Given the description of an element on the screen output the (x, y) to click on. 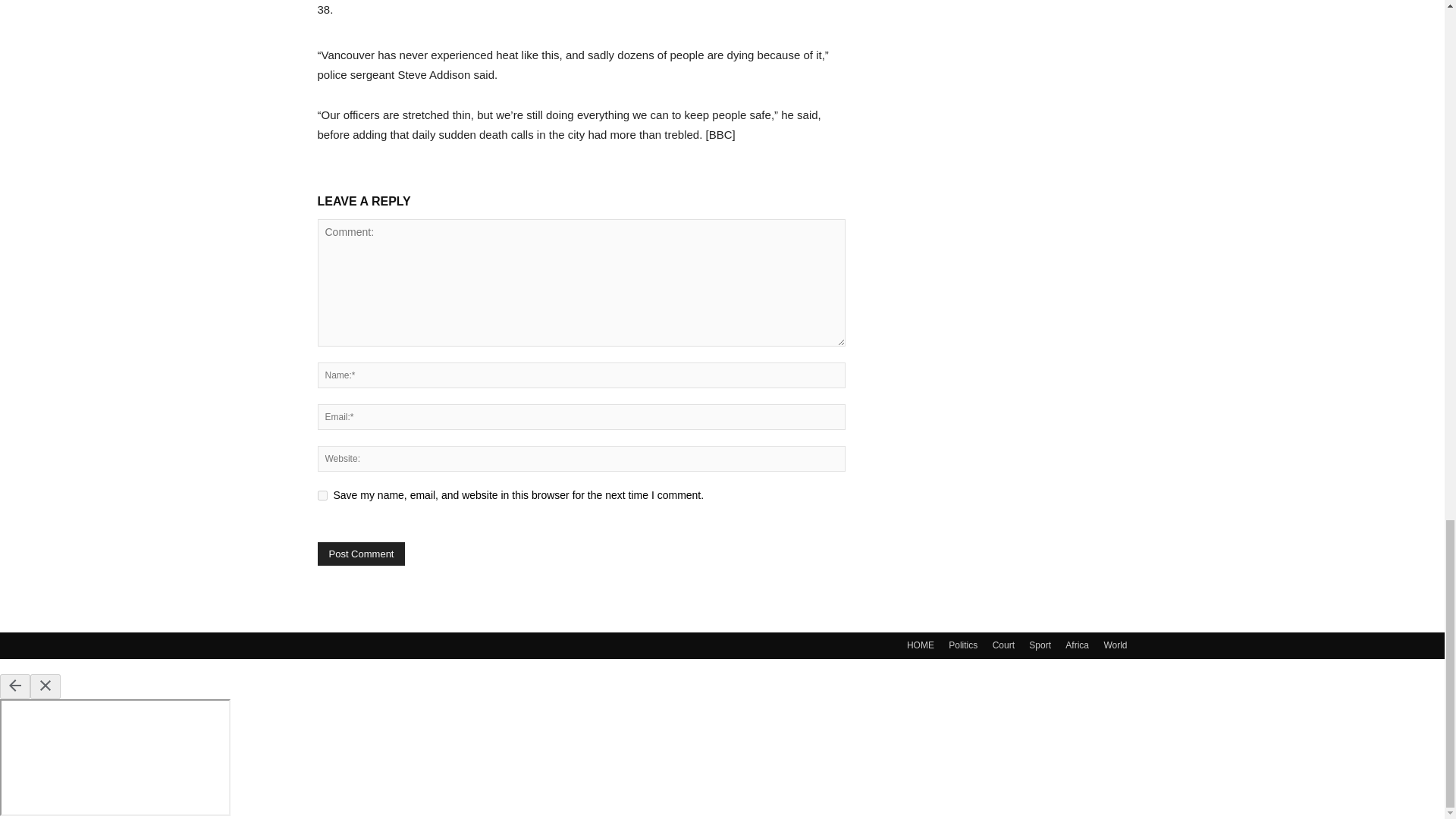
Post Comment (360, 553)
yes (321, 495)
